Given the description of an element on the screen output the (x, y) to click on. 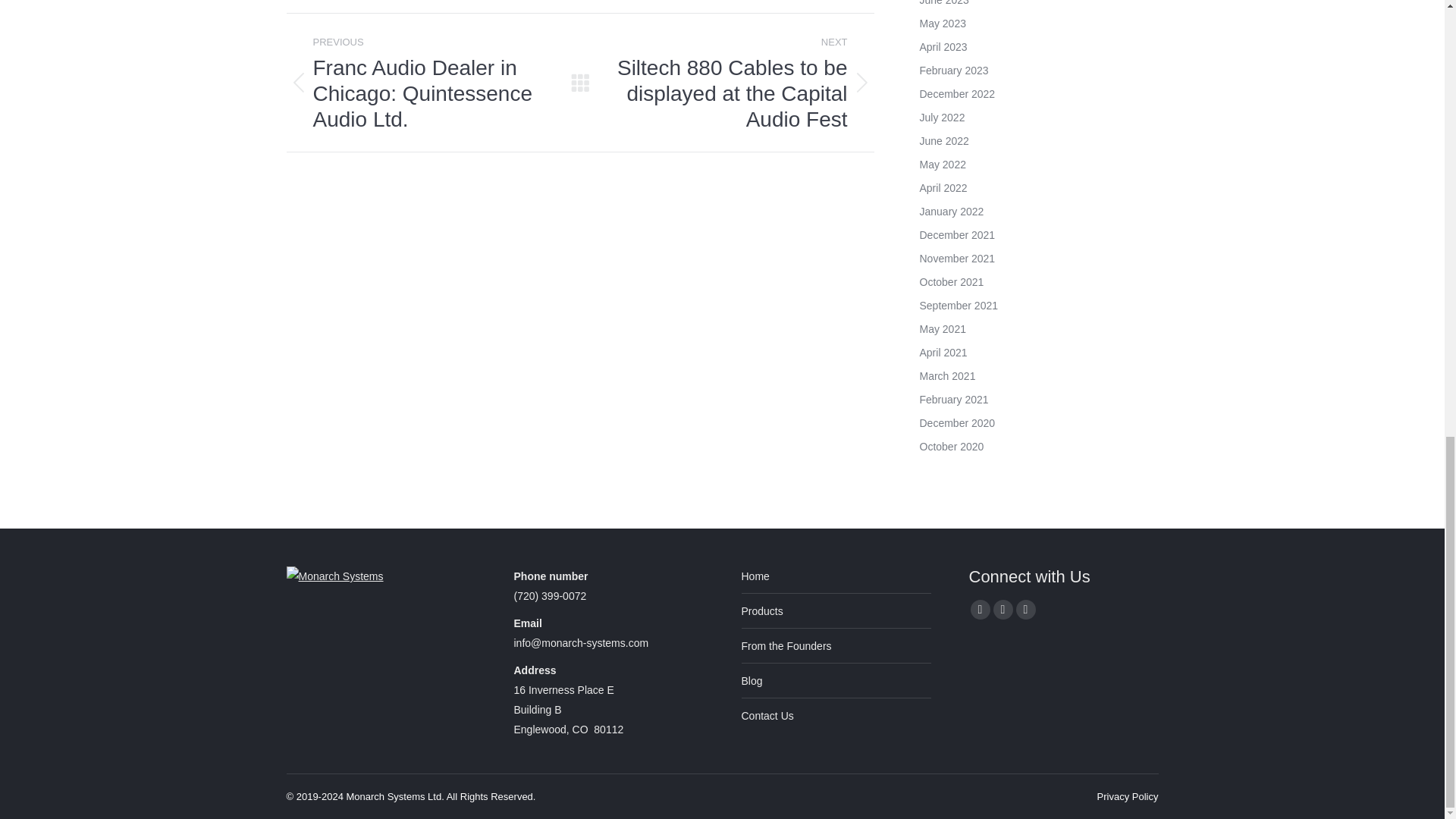
Facebook page opens in new window (980, 609)
X page opens in new window (1002, 609)
Instagram page opens in new window (1025, 609)
